Given the description of an element on the screen output the (x, y) to click on. 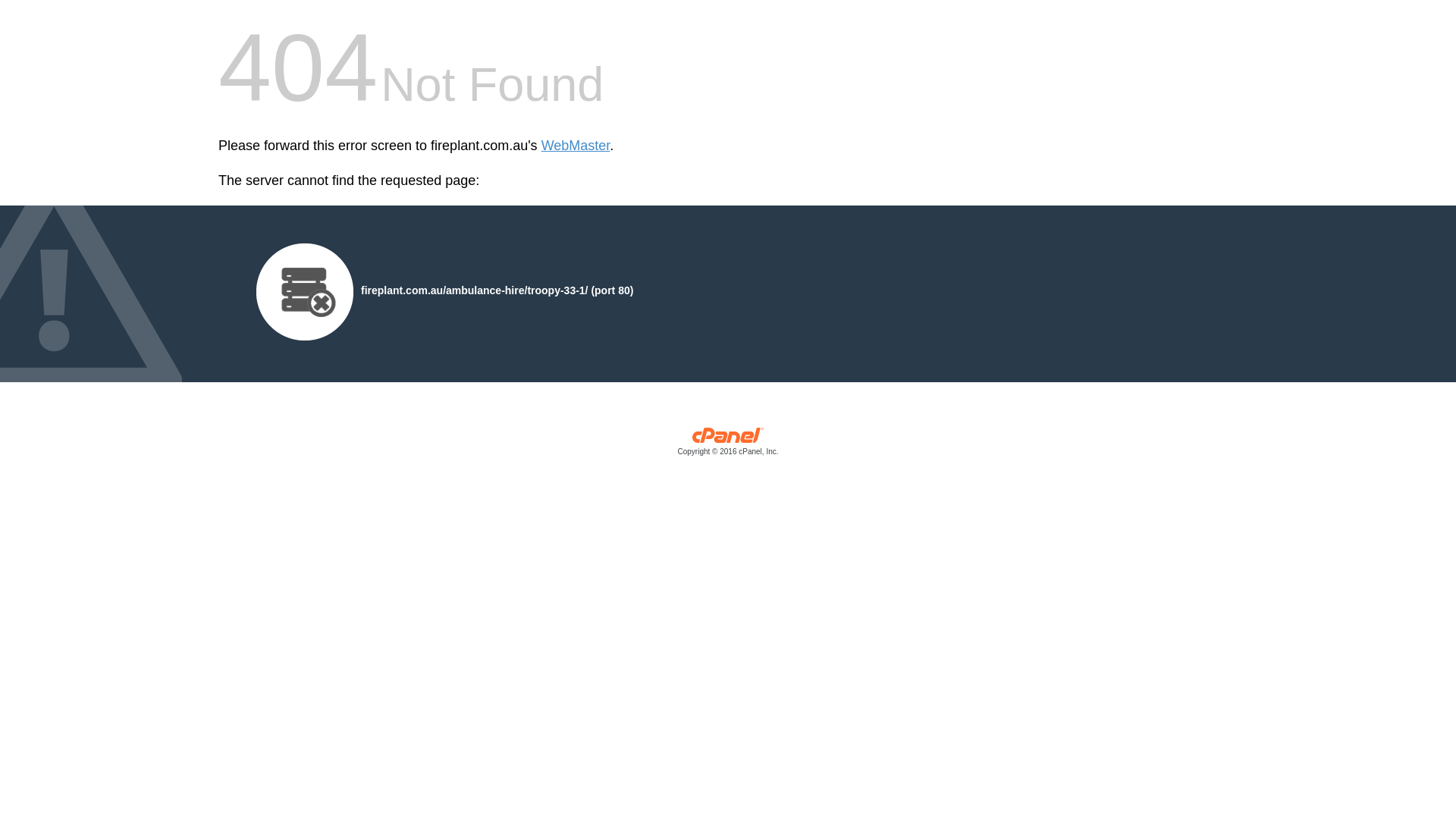
WebMaster Element type: text (575, 145)
